Given the description of an element on the screen output the (x, y) to click on. 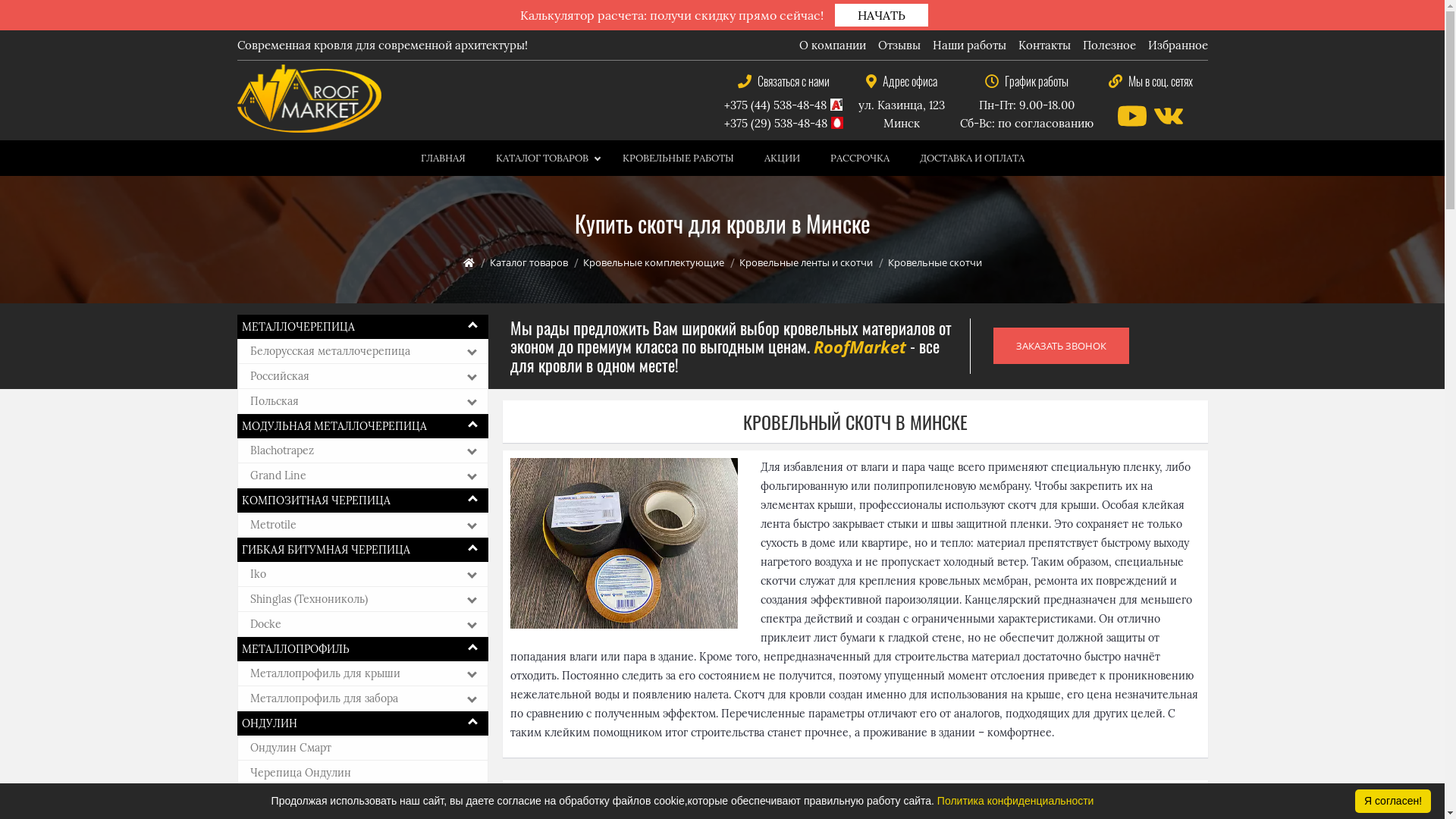
Blachotrapez Element type: text (366, 450)
+375 (29) 538-48-48 Element type: text (774, 123)
Grand Line Element type: text (366, 475)
Metrotile Element type: text (366, 524)
+375 (44) 538-48-48 Element type: text (774, 104)
Iko Element type: text (366, 573)
Docke Element type: text (366, 623)
